Given the description of an element on the screen output the (x, y) to click on. 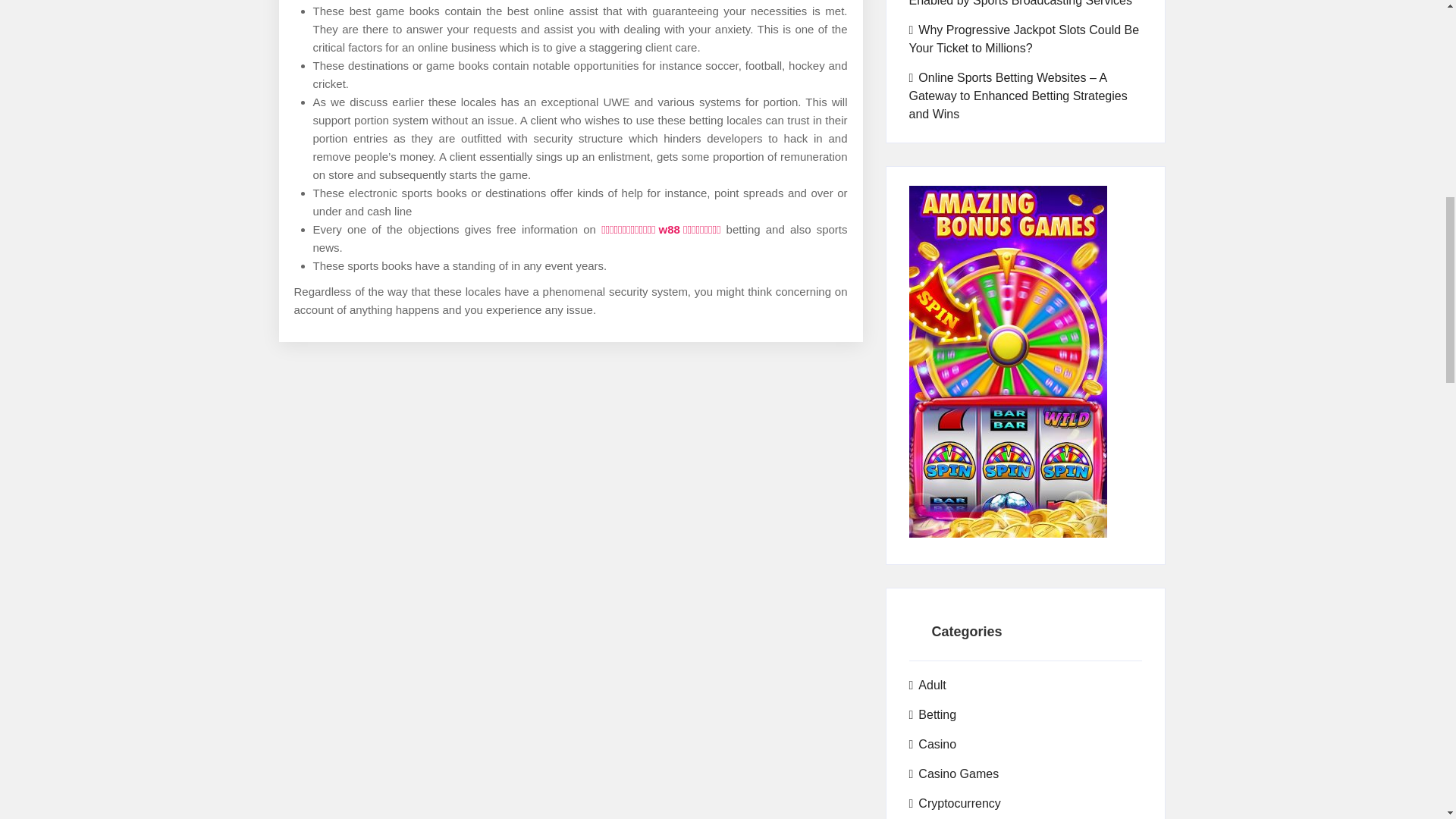
Adult (926, 685)
Casino (932, 744)
Betting (932, 714)
Casino Games (953, 773)
Cryptocurrency (954, 803)
